Given the description of an element on the screen output the (x, y) to click on. 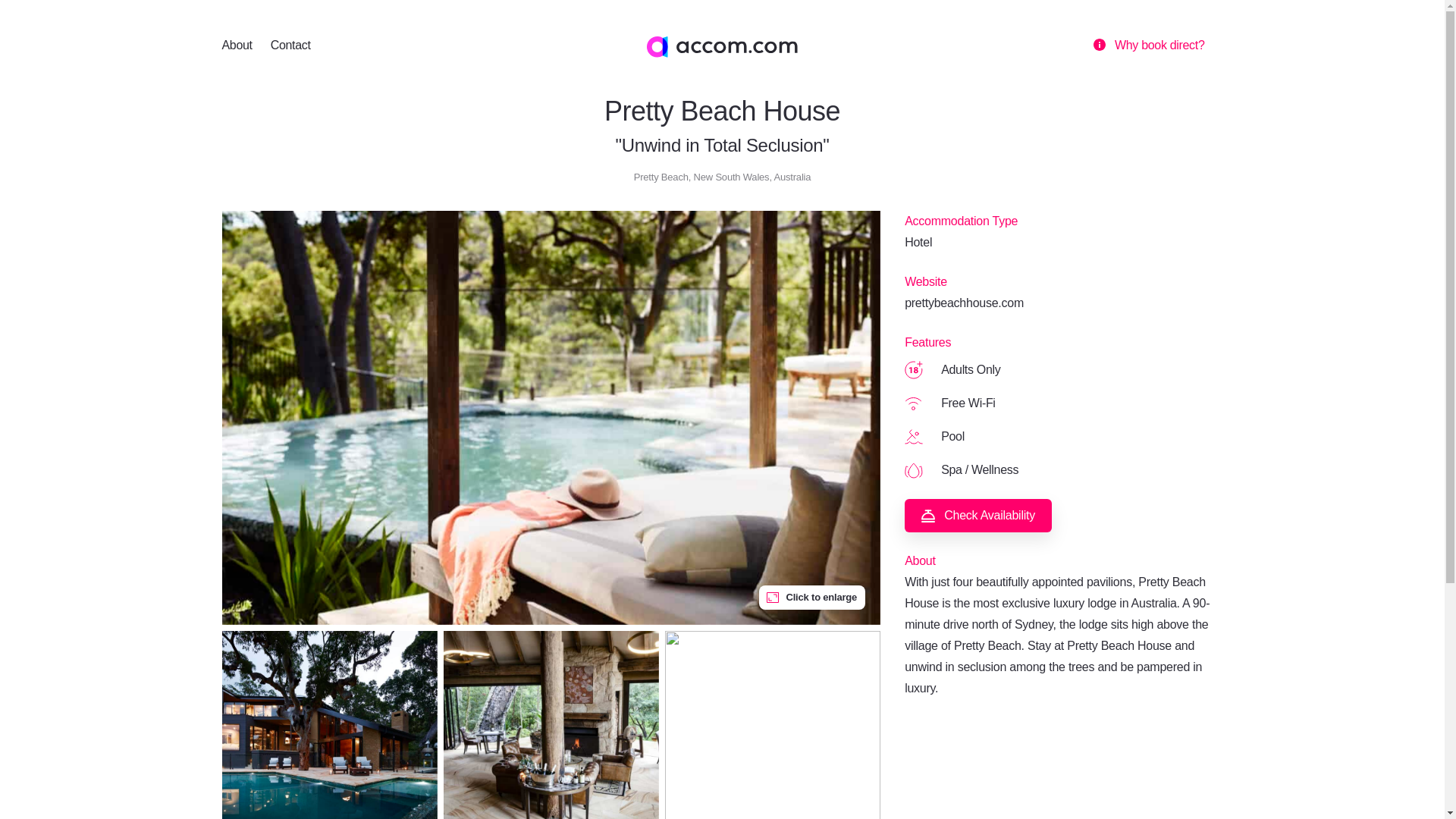
Contact (290, 45)
About (236, 45)
Check Availability (977, 515)
prettybeachhouse.com (963, 302)
